Given the description of an element on the screen output the (x, y) to click on. 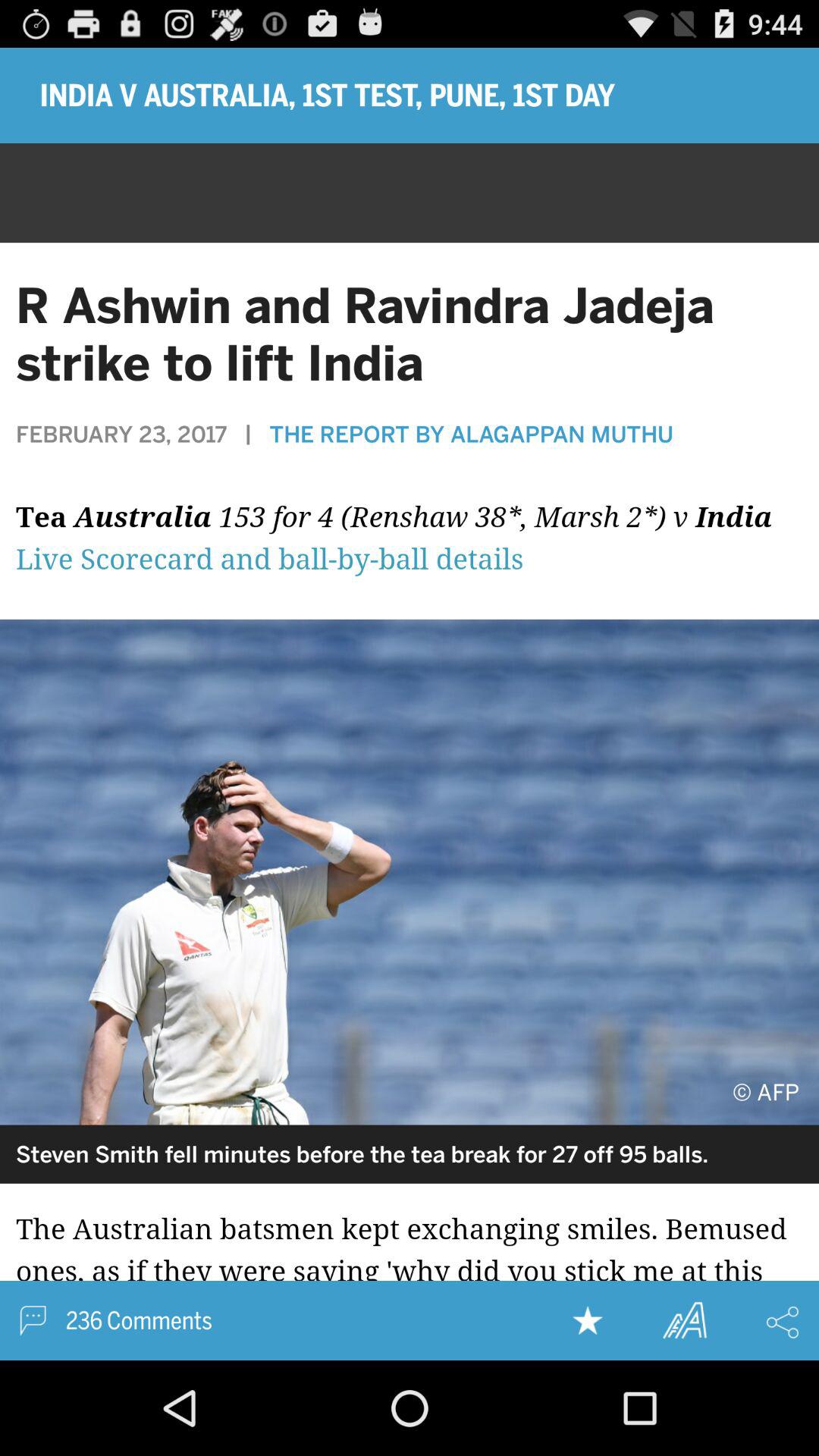
massage option (32, 1320)
